Given the description of an element on the screen output the (x, y) to click on. 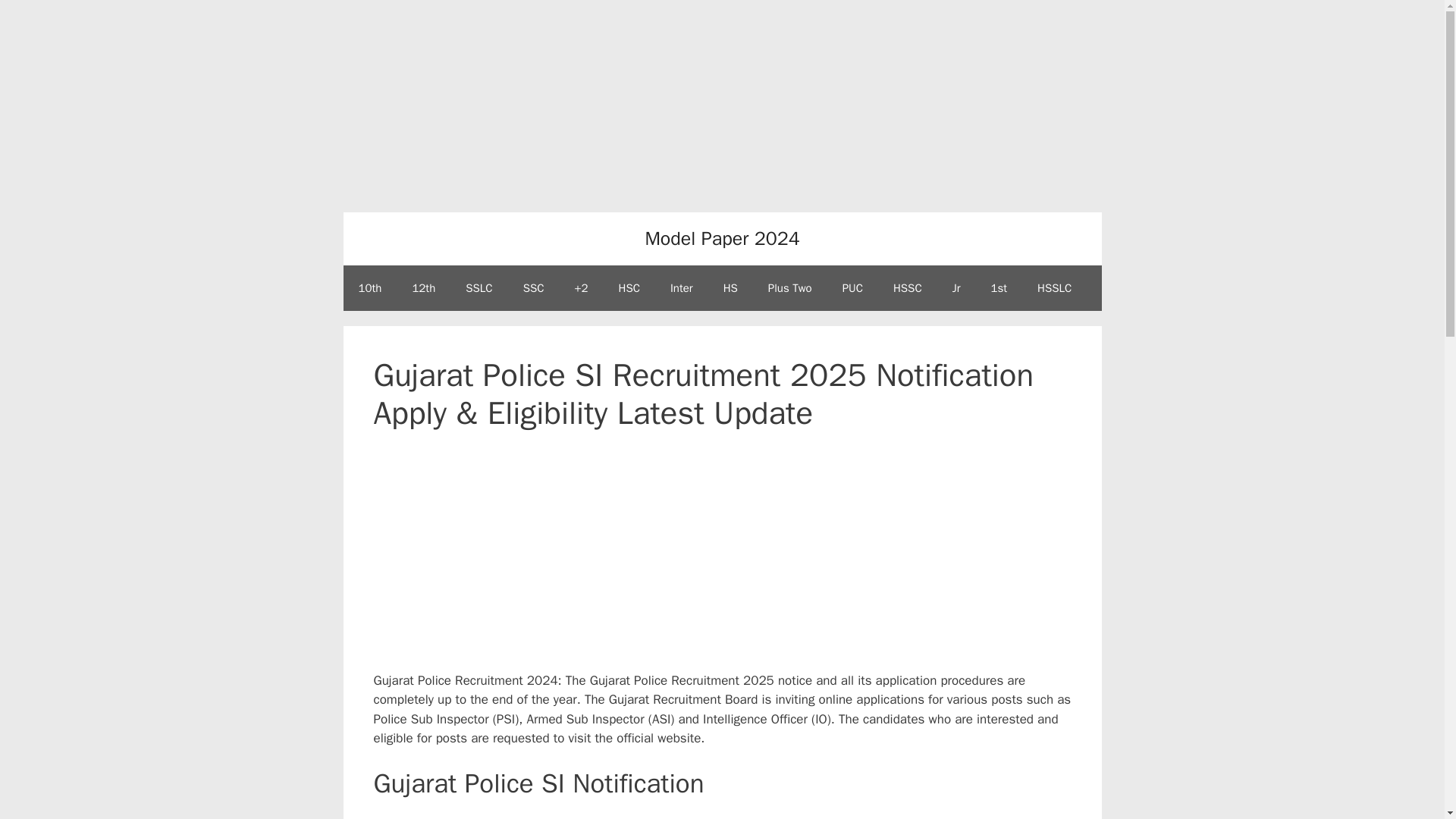
1st (998, 288)
PUC (852, 288)
HSC (629, 288)
HSSLC (1054, 288)
SSC (533, 288)
Model Paper 2024 (722, 238)
Inter (681, 288)
SSLC (477, 288)
12th (422, 288)
Jr (956, 288)
HS (729, 288)
Plus Two (789, 288)
